Given the description of an element on the screen output the (x, y) to click on. 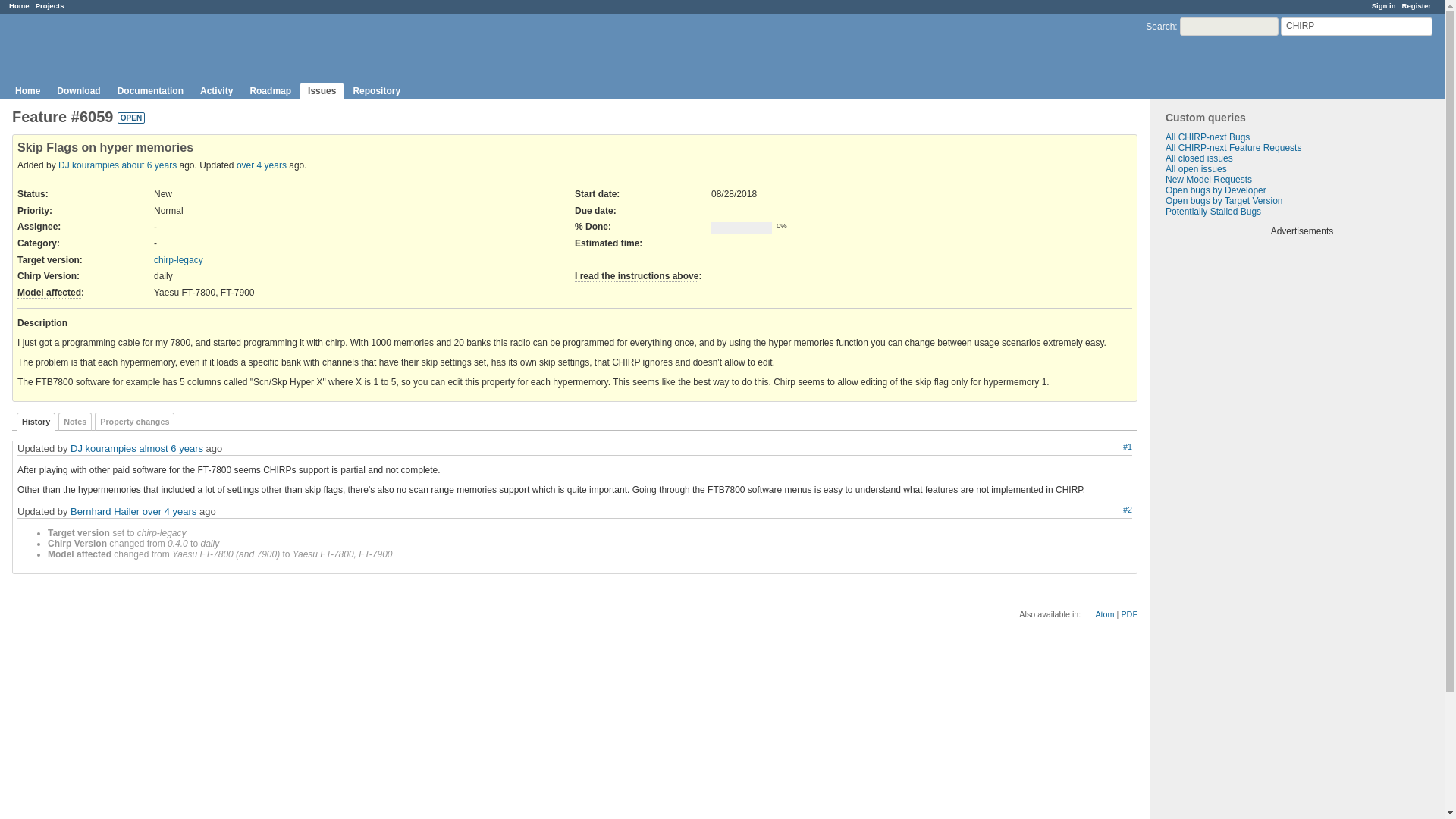
Potentially Stalled Bugs (1213, 211)
All open issues (1196, 168)
Projects (49, 5)
Repository (376, 90)
DJ kourampies (102, 448)
Documentation (150, 90)
about 6 years (148, 164)
Activity (216, 90)
All CHIRP-next Feature Requests (1233, 147)
Property changes (134, 421)
